Given the description of an element on the screen output the (x, y) to click on. 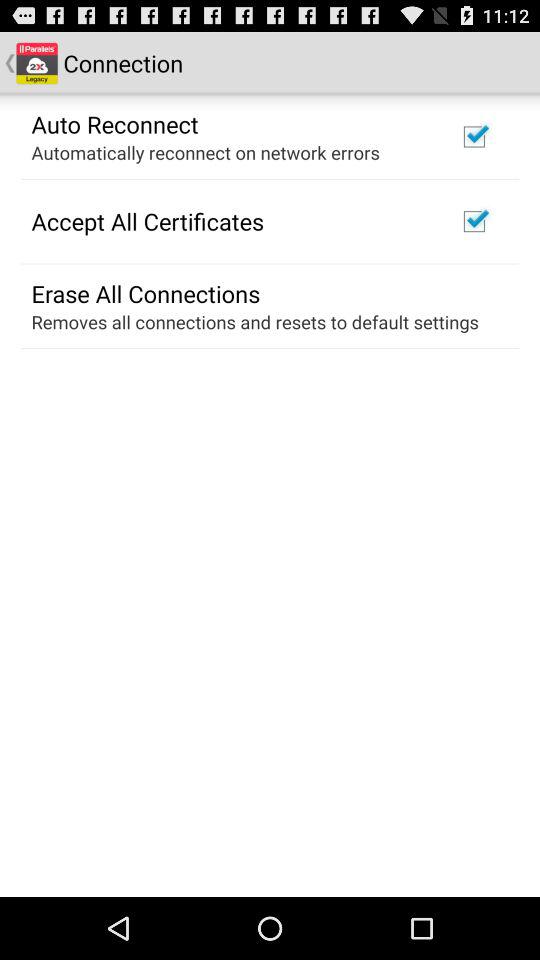
swipe until the automatically reconnect on item (205, 151)
